Given the description of an element on the screen output the (x, y) to click on. 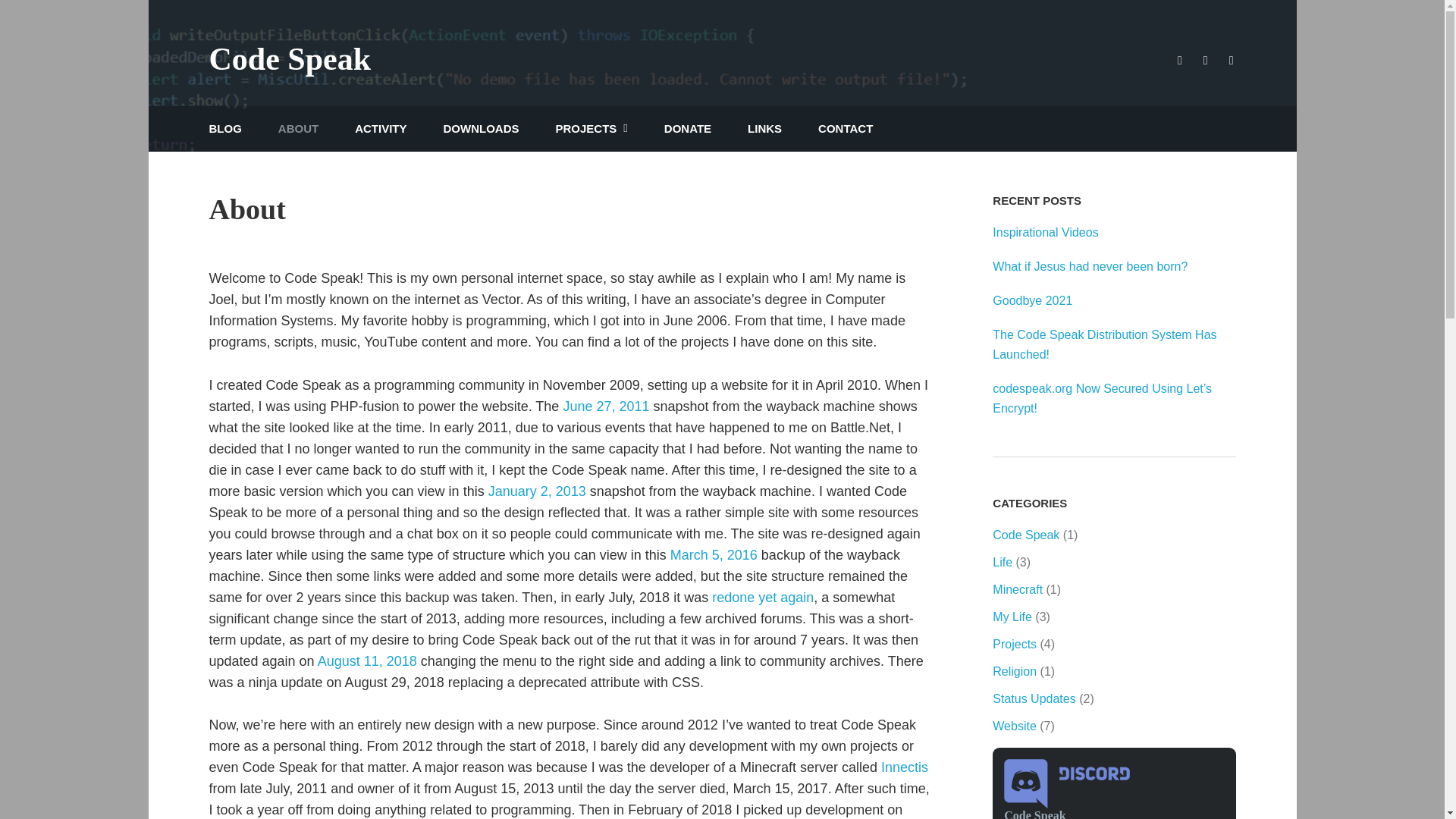
Code Speak (289, 58)
Innectis (904, 767)
ACTIVITY (380, 128)
PROJECTS (590, 128)
March 5, 2016 (713, 554)
August 11, 2018 (366, 661)
January 2, 2013 (536, 491)
CONTACT (845, 128)
DOWNLOADS (480, 128)
redone yet again (762, 597)
